Given the description of an element on the screen output the (x, y) to click on. 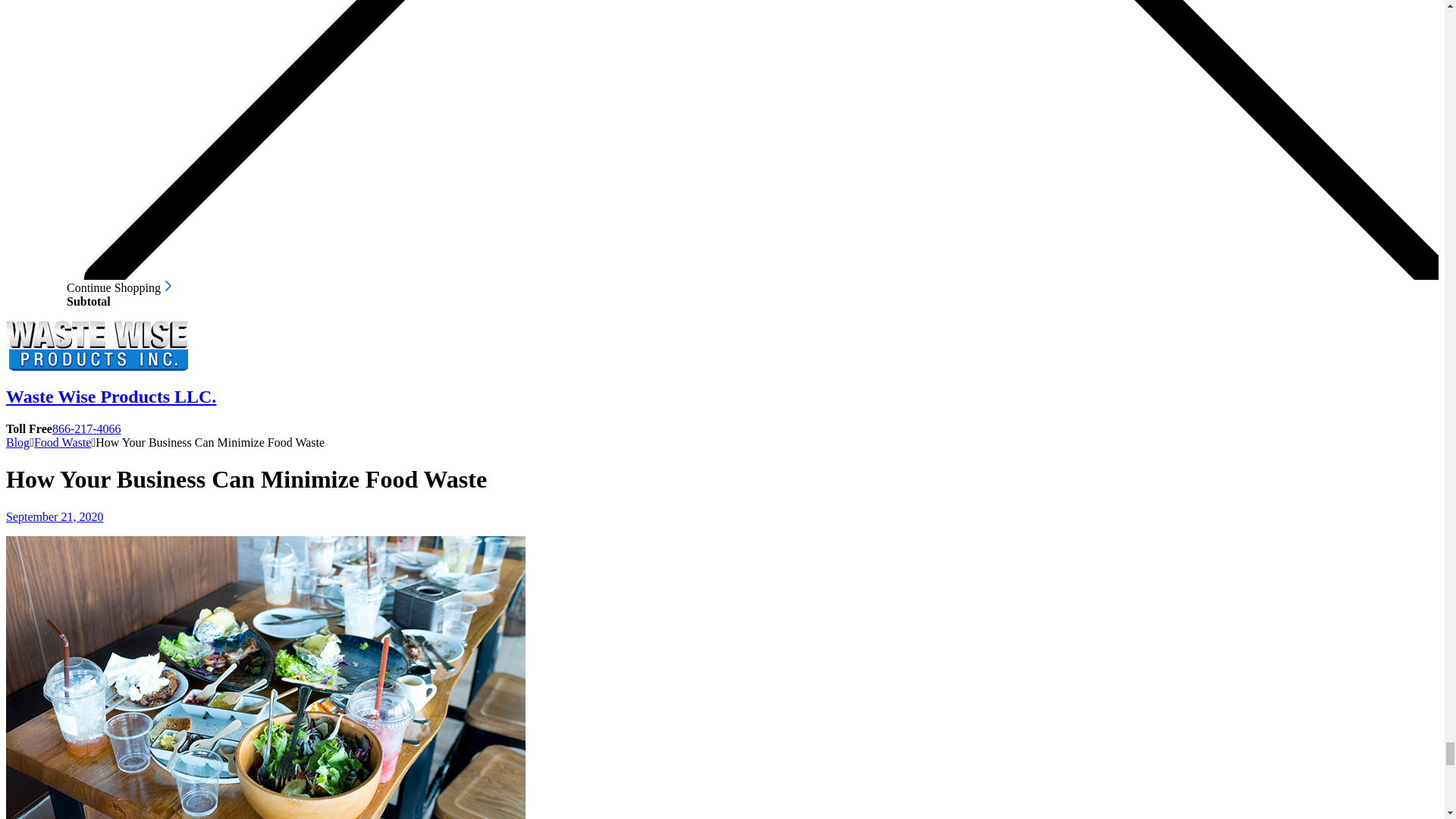
12:16 pm (54, 516)
